Given the description of an element on the screen output the (x, y) to click on. 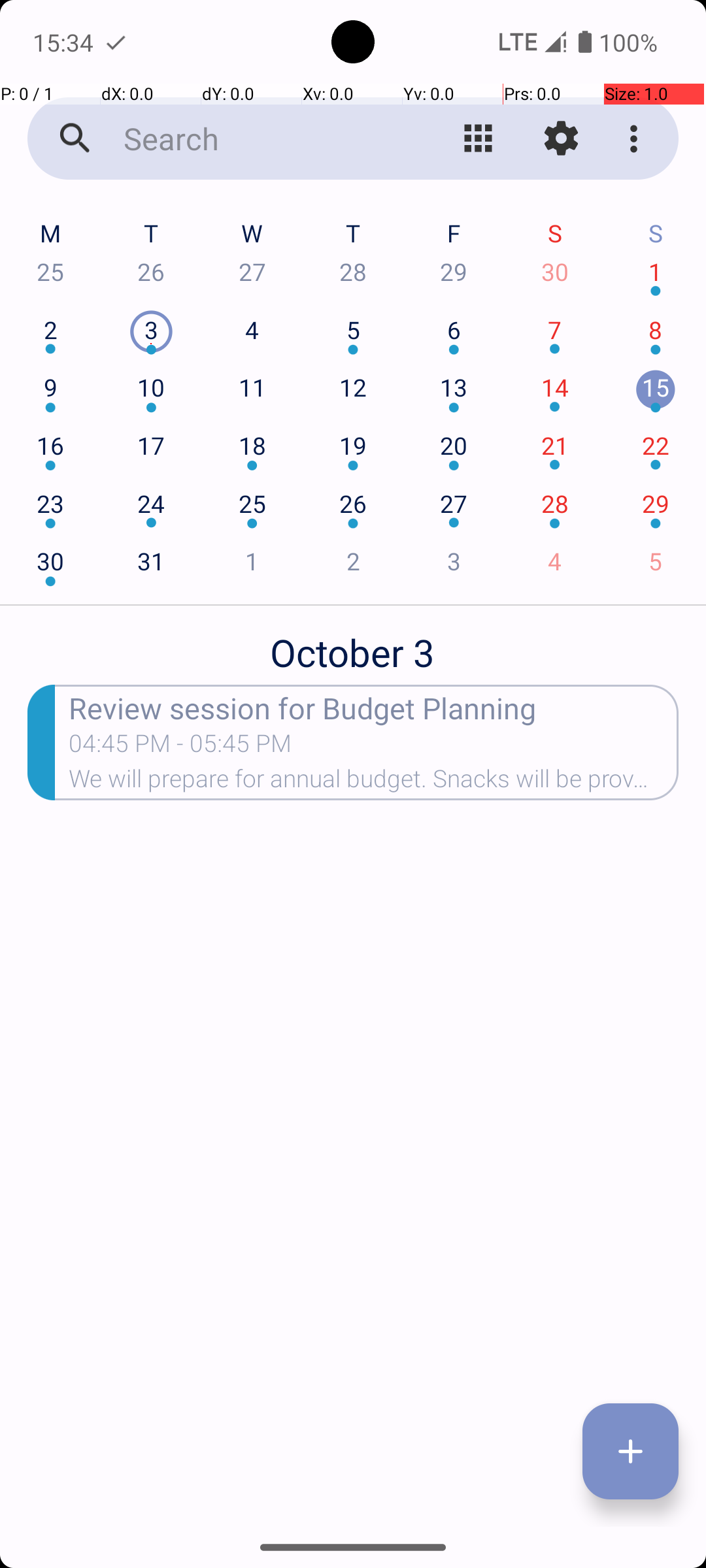
October 3 Element type: android.widget.TextView (352, 644)
04:45 PM - 05:45 PM Element type: android.widget.TextView (179, 747)
We will prepare for annual budget. Snacks will be provided. Element type: android.widget.TextView (373, 782)
